Given the description of an element on the screen output the (x, y) to click on. 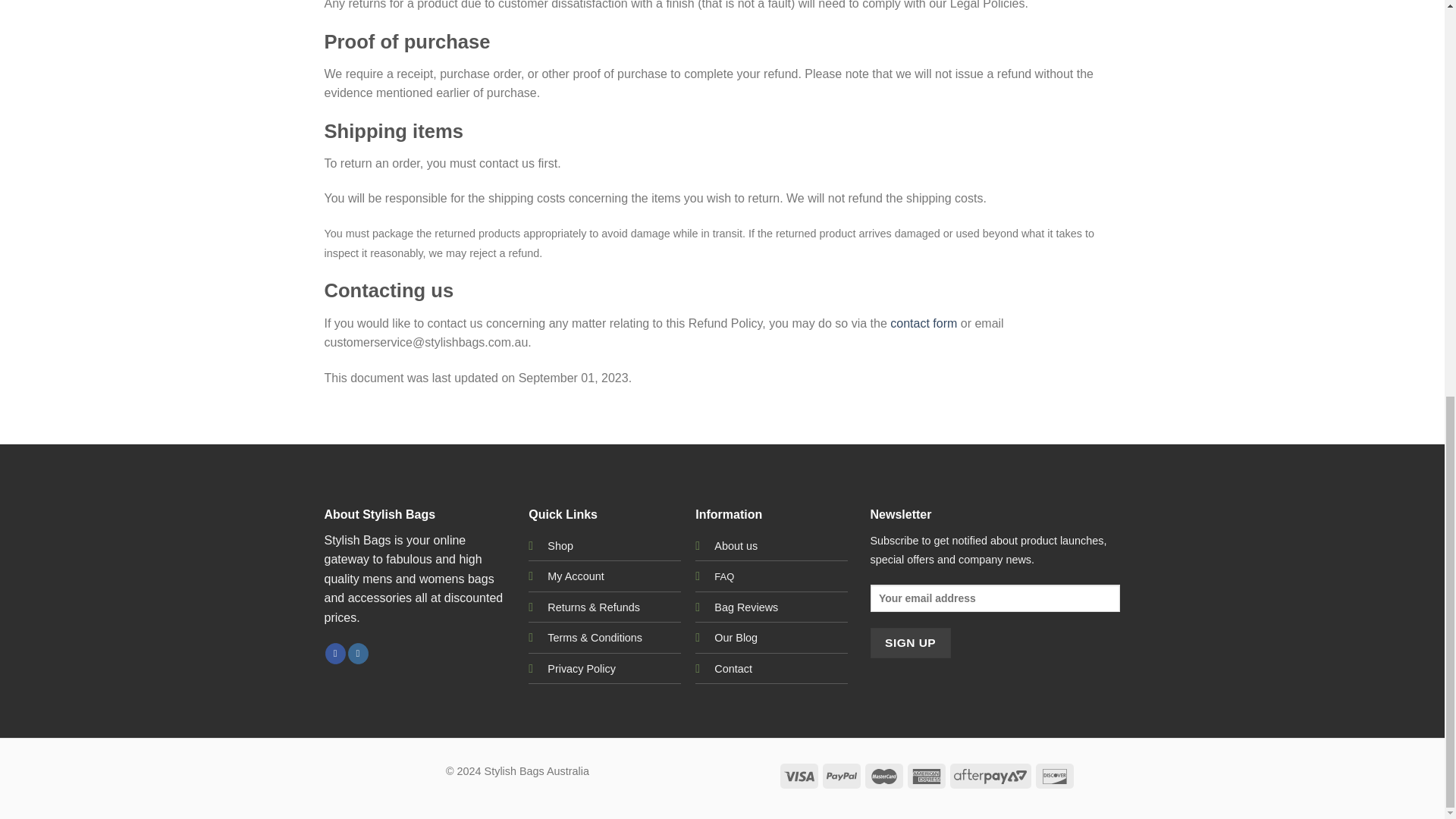
Privacy Policy (581, 668)
Follow on Facebook (335, 653)
Bag Reviews (745, 607)
contact form (922, 323)
My Account (575, 576)
About us (735, 545)
FAQ (723, 575)
Follow on Instagram (357, 653)
Shop (560, 545)
Sign up (910, 642)
